Given the description of an element on the screen output the (x, y) to click on. 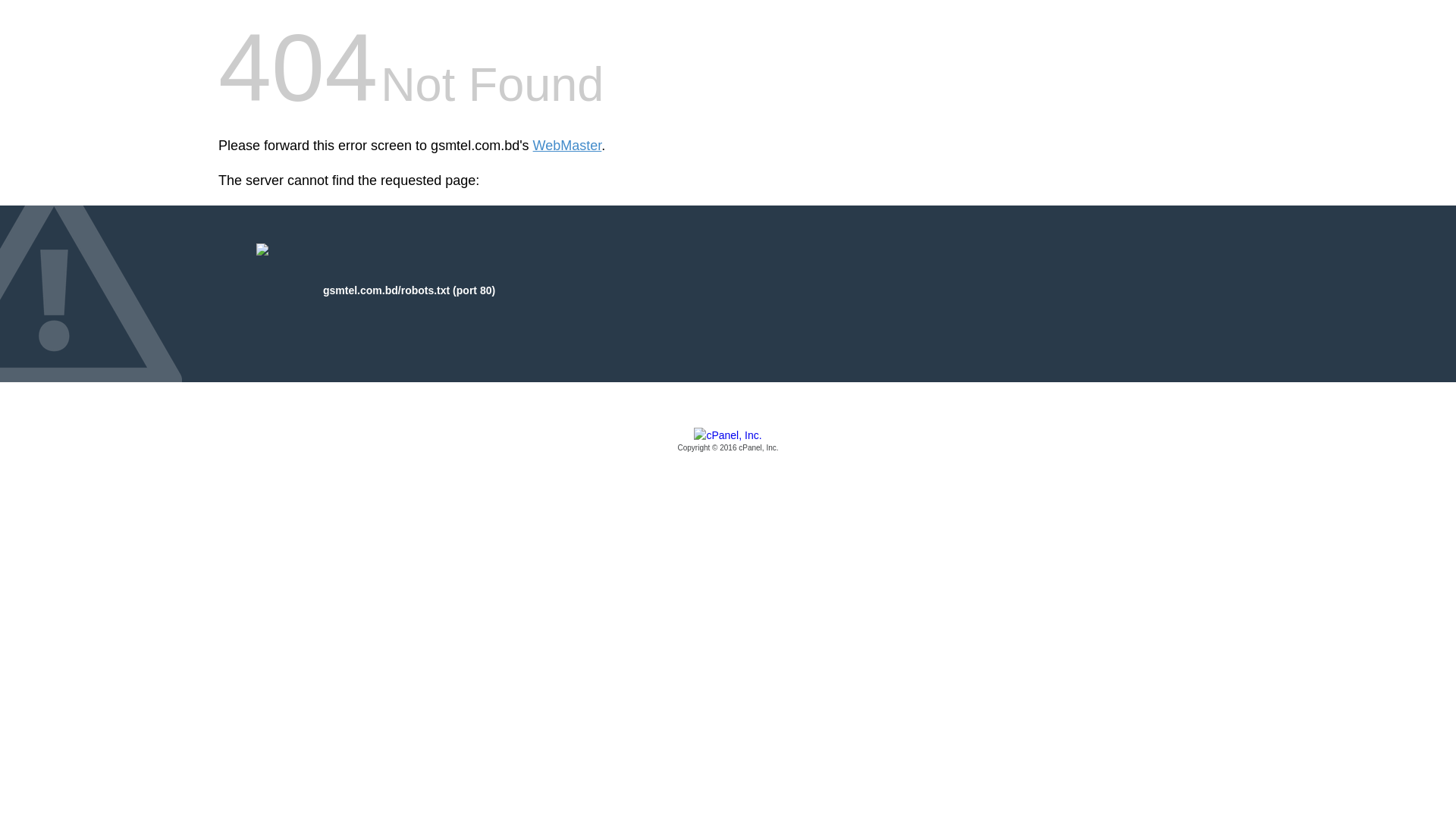
WebMaster Element type: text (567, 145)
